Given the description of an element on the screen output the (x, y) to click on. 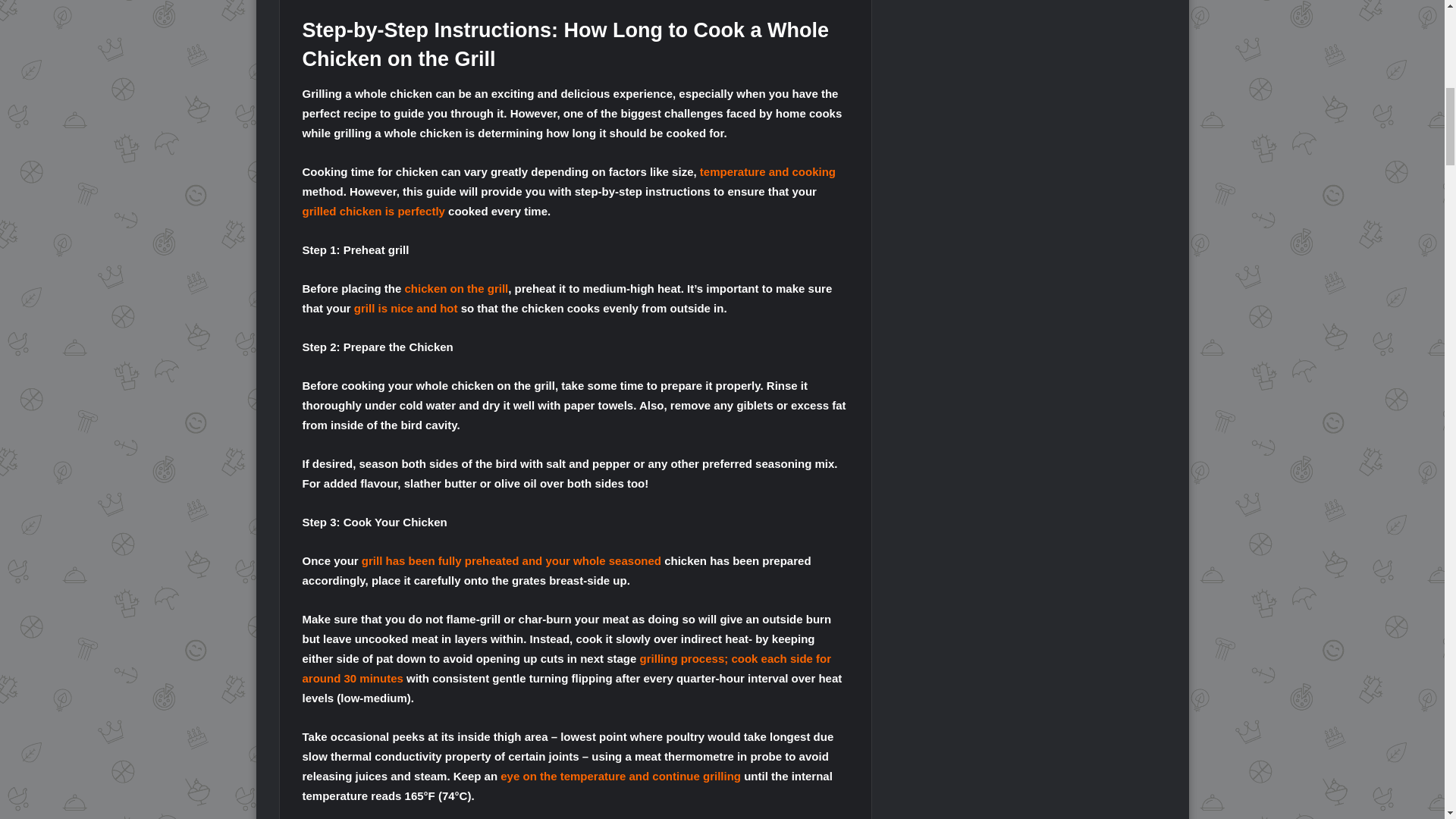
eye on the temperature and continue grilling (620, 775)
grill has been fully preheated and your whole seasoned (511, 560)
grill is nice and hot (405, 308)
temperature and cooking (767, 171)
grilling process; cook each side for around 30 minutes (566, 667)
chicken on the grill (456, 287)
grilled chicken is perfectly (372, 210)
